Given the description of an element on the screen output the (x, y) to click on. 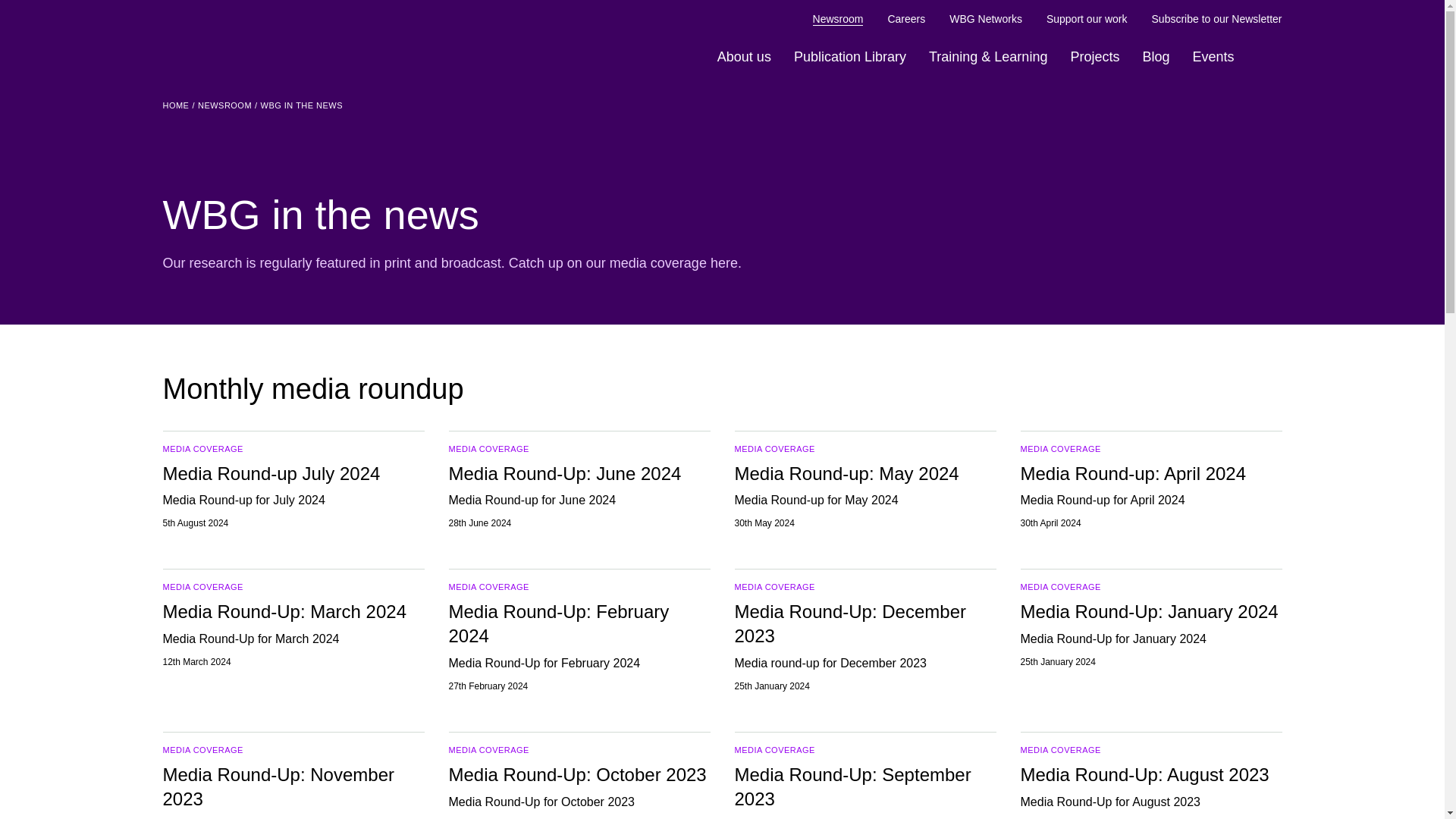
Events (1212, 56)
WBG Networks (985, 19)
Support our work (1086, 19)
Projects (1093, 56)
About us (743, 56)
HOME (175, 106)
Blog (1155, 56)
Go to homepage (230, 33)
NEWSROOM (224, 106)
Careers (905, 19)
